Given the description of an element on the screen output the (x, y) to click on. 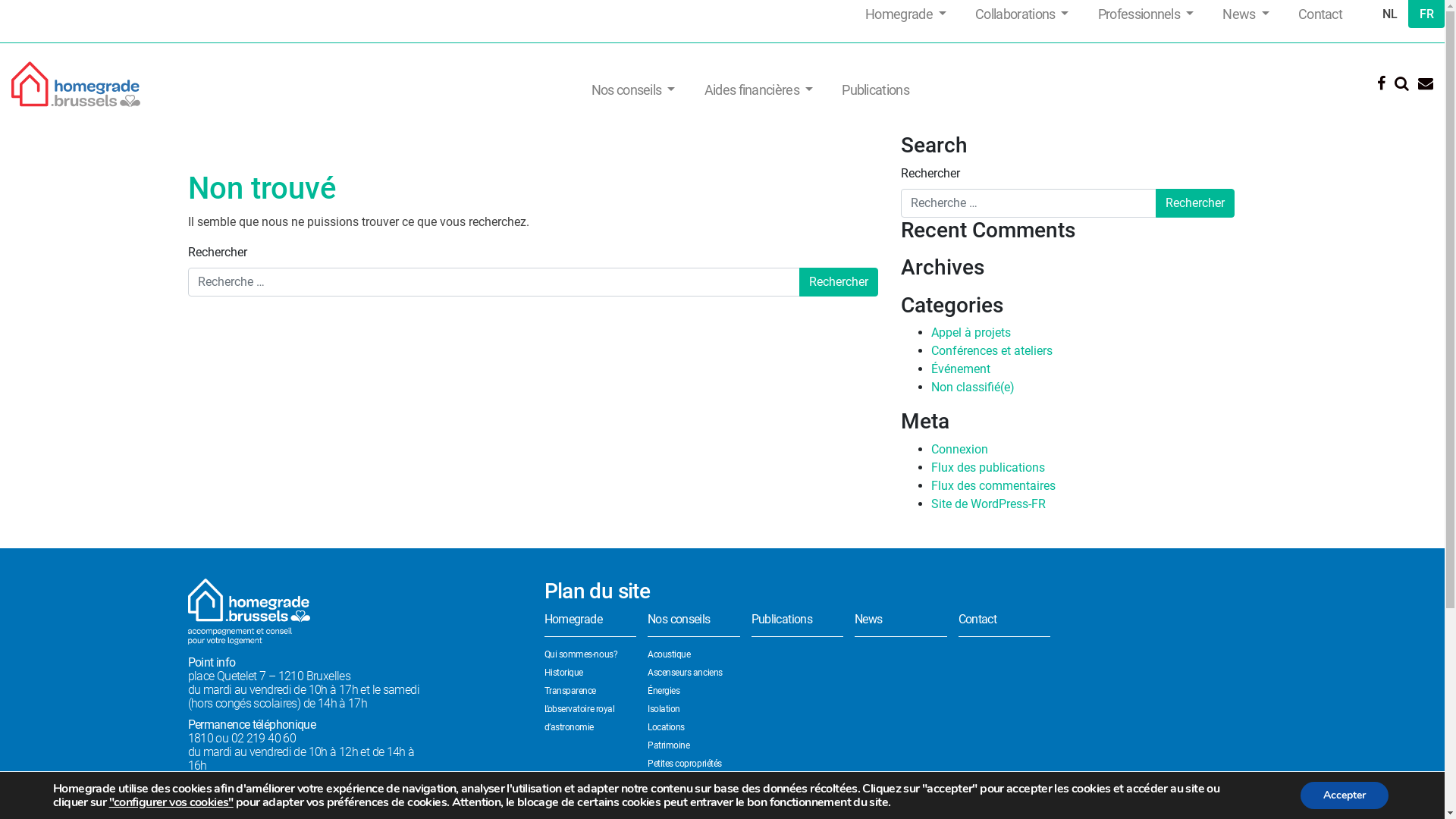
Accepter Element type: text (1344, 795)
Directement en ligne Element type: text (238, 786)
Flux des publications Element type: text (987, 467)
Qui sommes-nous? Element type: text (581, 654)
Homegrade Element type: text (905, 13)
Flux des commentaires Element type: text (993, 485)
FR Element type: text (1426, 14)
Locations Element type: text (665, 726)
Rechercher Element type: text (838, 281)
Professionnels Element type: text (1145, 13)
Connexion Element type: text (959, 449)
"configurer vos cookies" Element type: text (171, 802)
Isolation Element type: text (663, 708)
Acoustique Element type: text (668, 654)
Patrimoine Element type: text (668, 745)
News Element type: text (1245, 13)
Rechercher Element type: text (1194, 202)
Site de WordPress-FR Element type: text (988, 503)
Nos conseils Element type: text (693, 623)
Contact Element type: text (1320, 13)
News Element type: text (900, 623)
Homegrade Element type: text (590, 623)
Publications Element type: text (796, 623)
Contact Element type: text (1004, 623)
Historique Element type: text (563, 672)
Collaborations Element type: text (1021, 13)
NL Element type: text (1389, 14)
Nos conseils Element type: text (633, 89)
Publications Element type: text (875, 89)
Urbanisme Element type: text (668, 799)
Transparence Element type: text (570, 690)
Ascenseurs anciens Element type: text (684, 672)
